Given the description of an element on the screen output the (x, y) to click on. 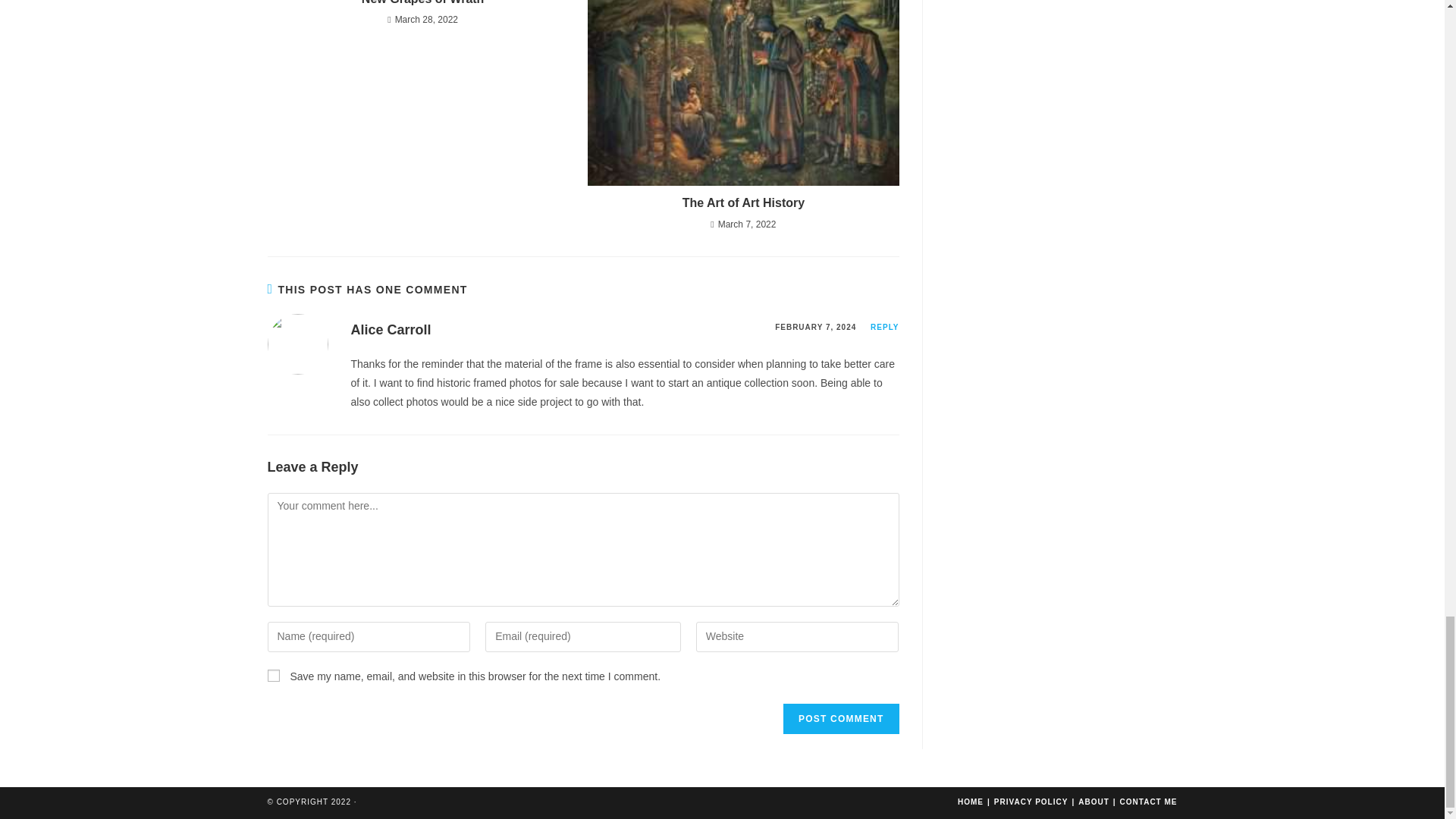
The Art of Art History 2 (743, 92)
New Grapes of Wrath (422, 3)
The Art of Art History (742, 202)
Alice Carroll (390, 329)
REPLY (884, 326)
HOME (971, 801)
CONTACT ME (1148, 801)
Post Comment (840, 718)
ABOUT (1093, 801)
yes (272, 675)
Post Comment (840, 718)
PRIVACY POLICY (1031, 801)
